Given the description of an element on the screen output the (x, y) to click on. 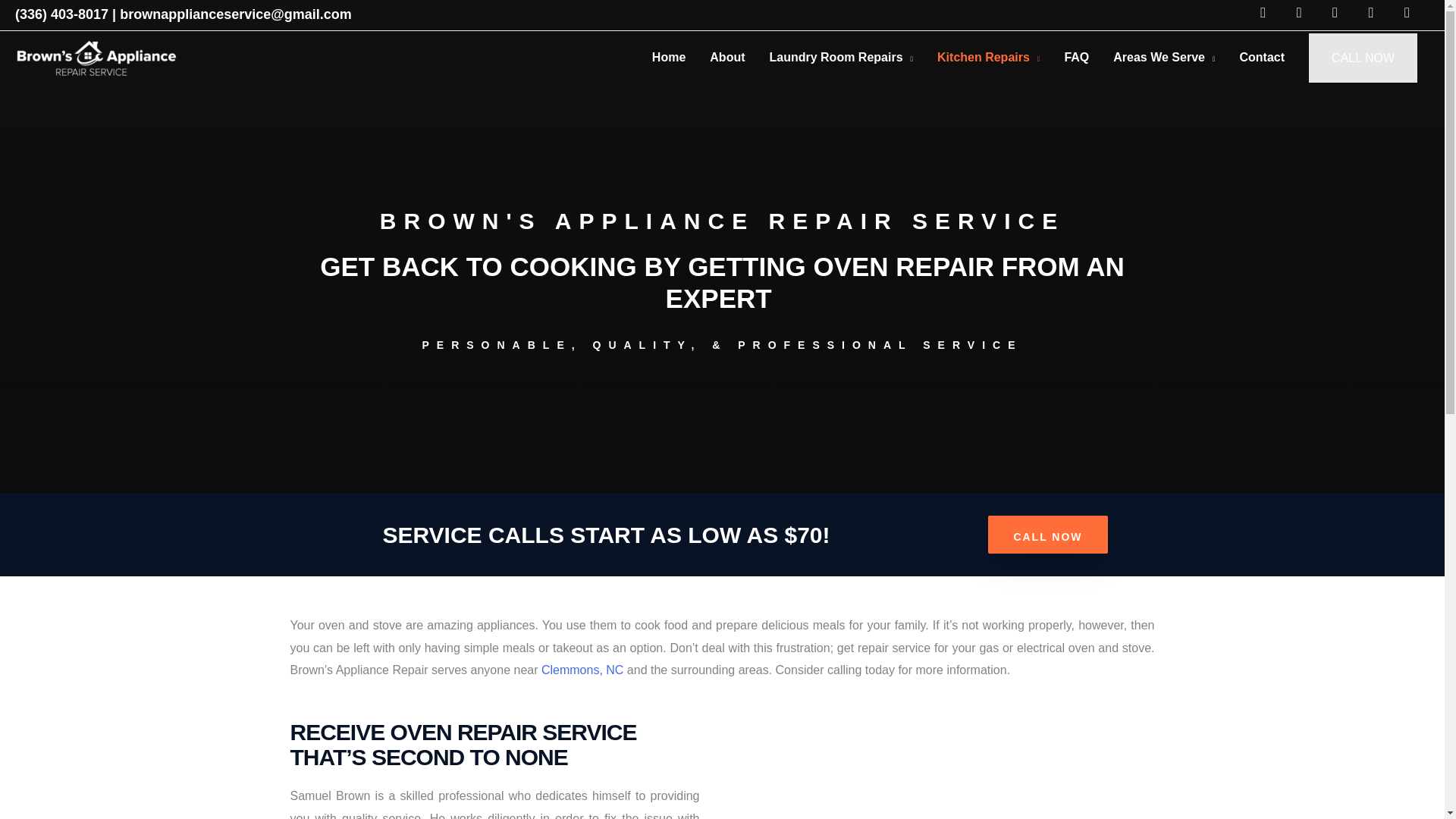
CALL NOW (1362, 58)
Twitter (1299, 10)
Default Label (1371, 10)
CALL NOW (1047, 534)
FAQ (1075, 58)
Areas We Serve (1163, 58)
Instagram (1335, 10)
Home (668, 58)
Facebook (1262, 10)
About (727, 58)
